Given the description of an element on the screen output the (x, y) to click on. 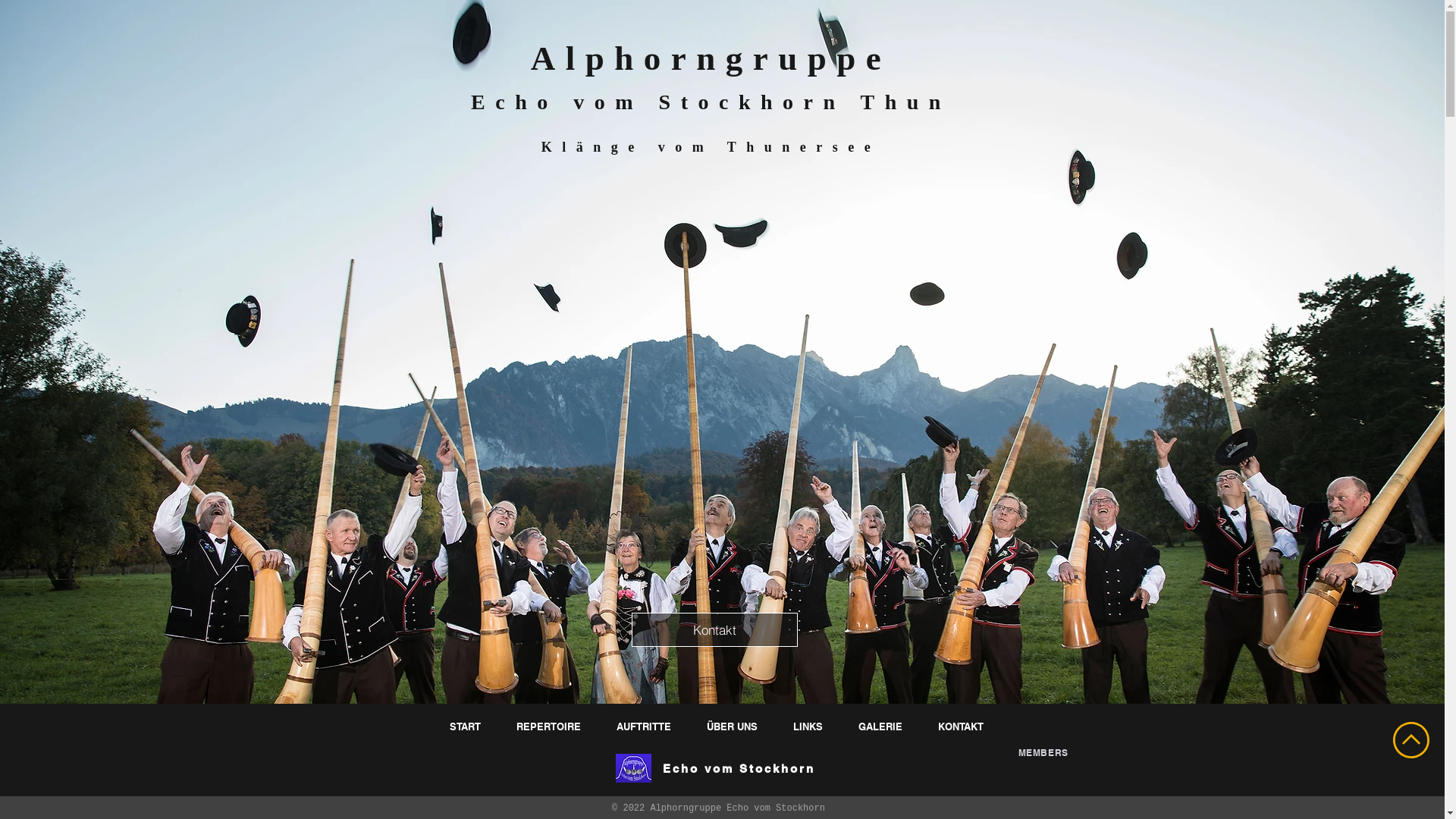
Echo vom Stockhorn Element type: text (738, 768)
Kontakt Element type: text (713, 629)
LINKS Element type: text (808, 726)
GALERIE Element type: text (881, 726)
REPERTOIRE Element type: text (550, 726)
MEMBERS Element type: text (1042, 752)
KONTAKT Element type: text (962, 726)
AUFTRITTE Element type: text (645, 726)
START Element type: text (466, 726)
